Given the description of an element on the screen output the (x, y) to click on. 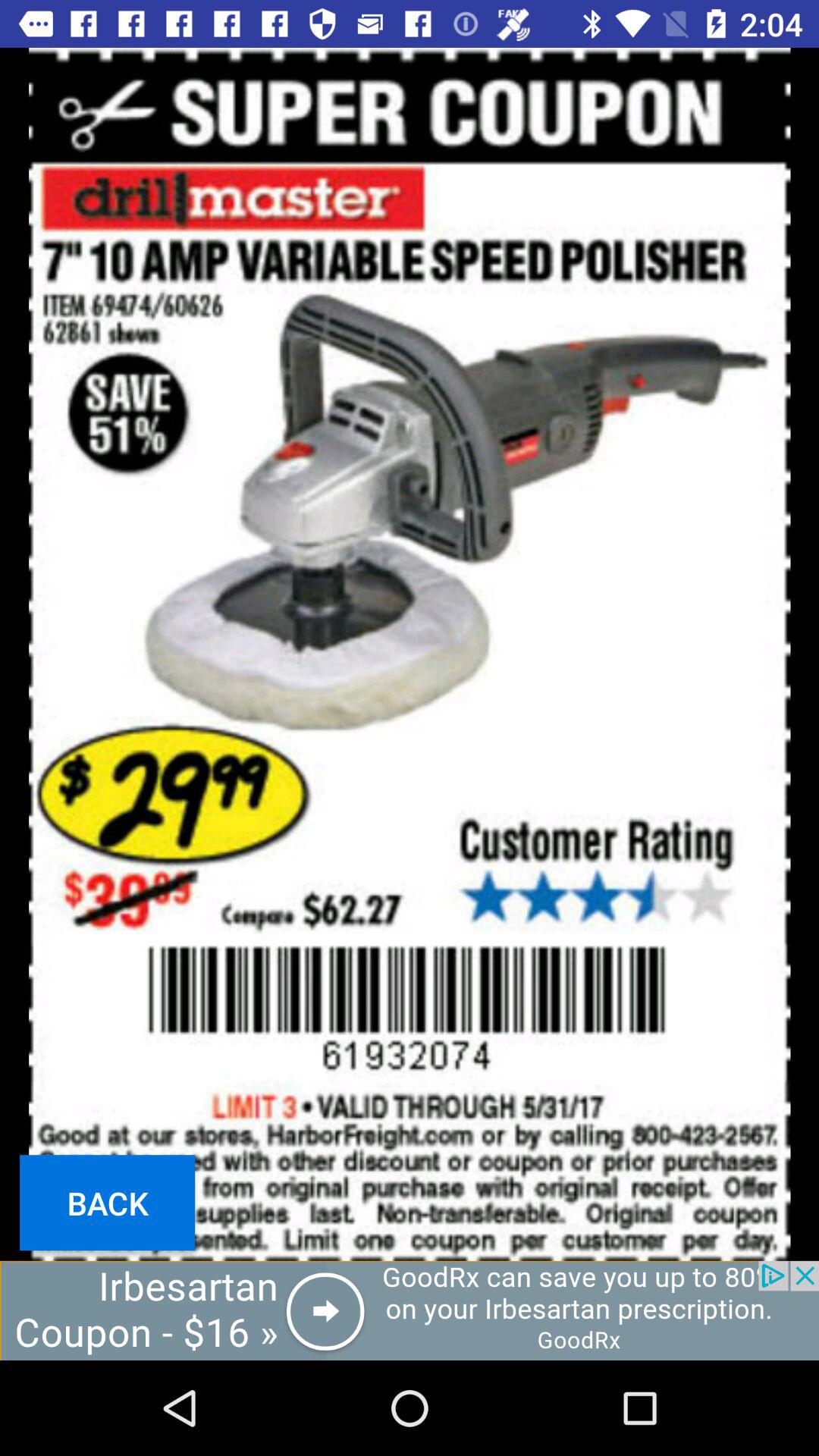
open the advertisements (409, 1310)
